Given the description of an element on the screen output the (x, y) to click on. 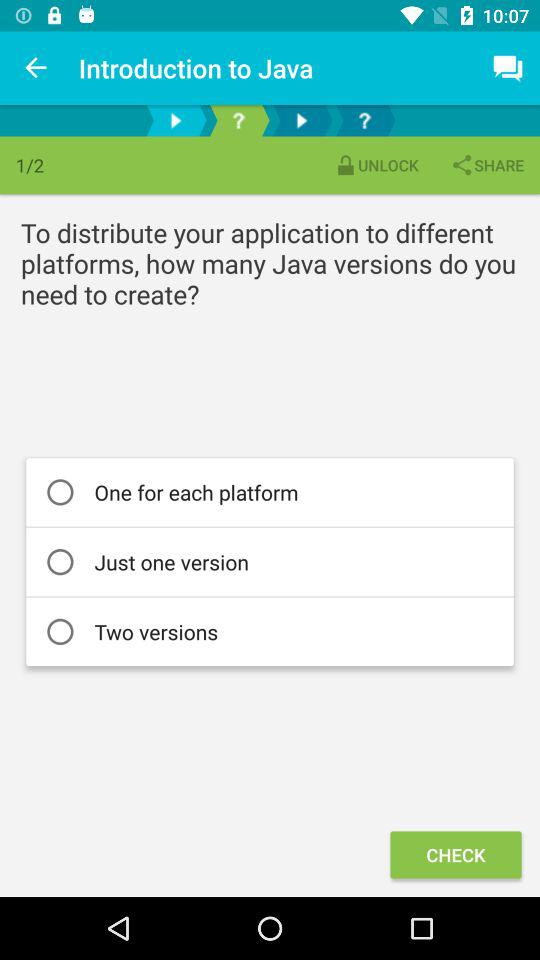
click the icon next to the introduction to java (36, 68)
